Given the description of an element on the screen output the (x, y) to click on. 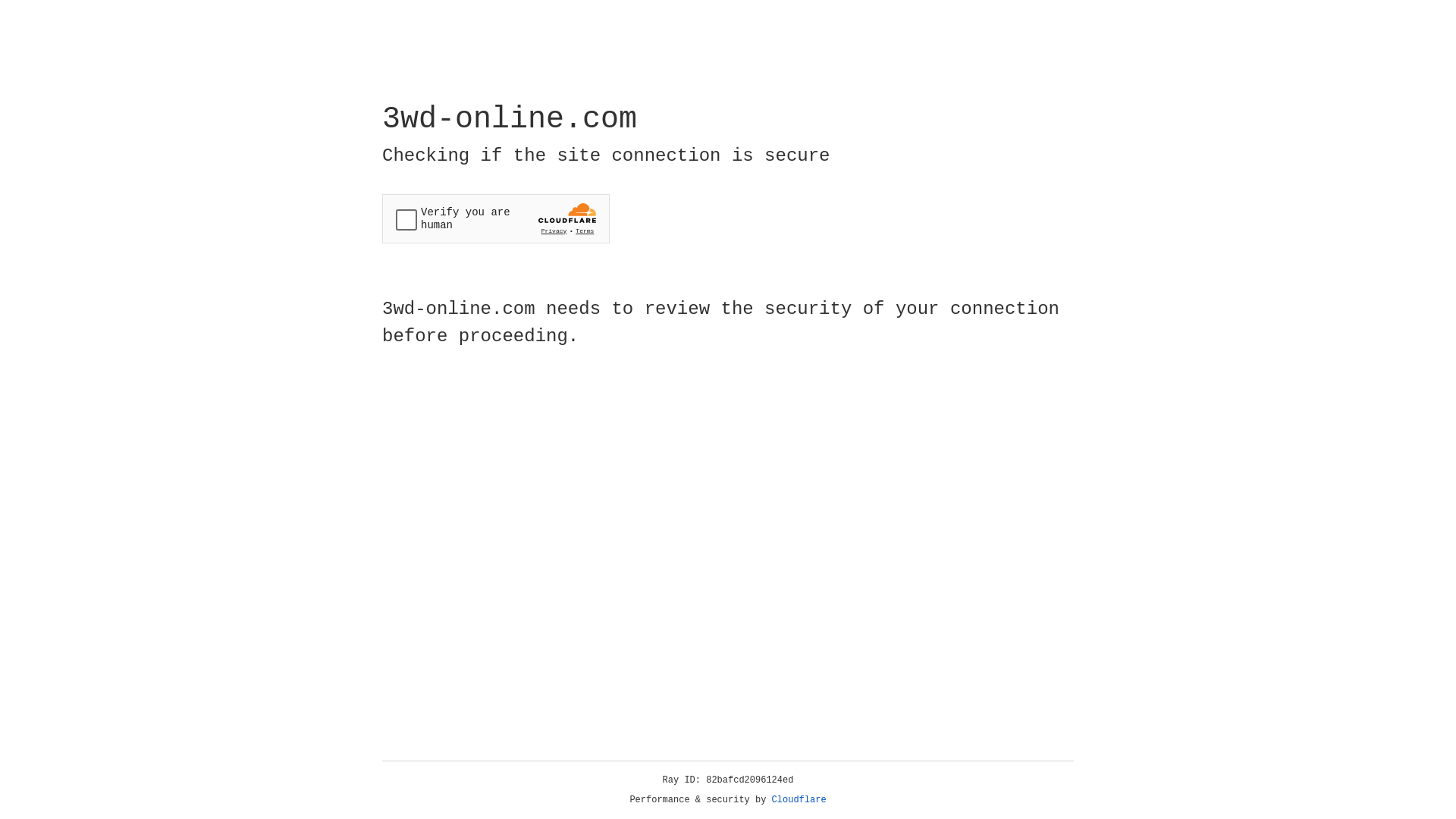
Cloudflare Element type: text (798, 799)
Widget containing a Cloudflare security challenge Element type: hover (495, 218)
